Given the description of an element on the screen output the (x, y) to click on. 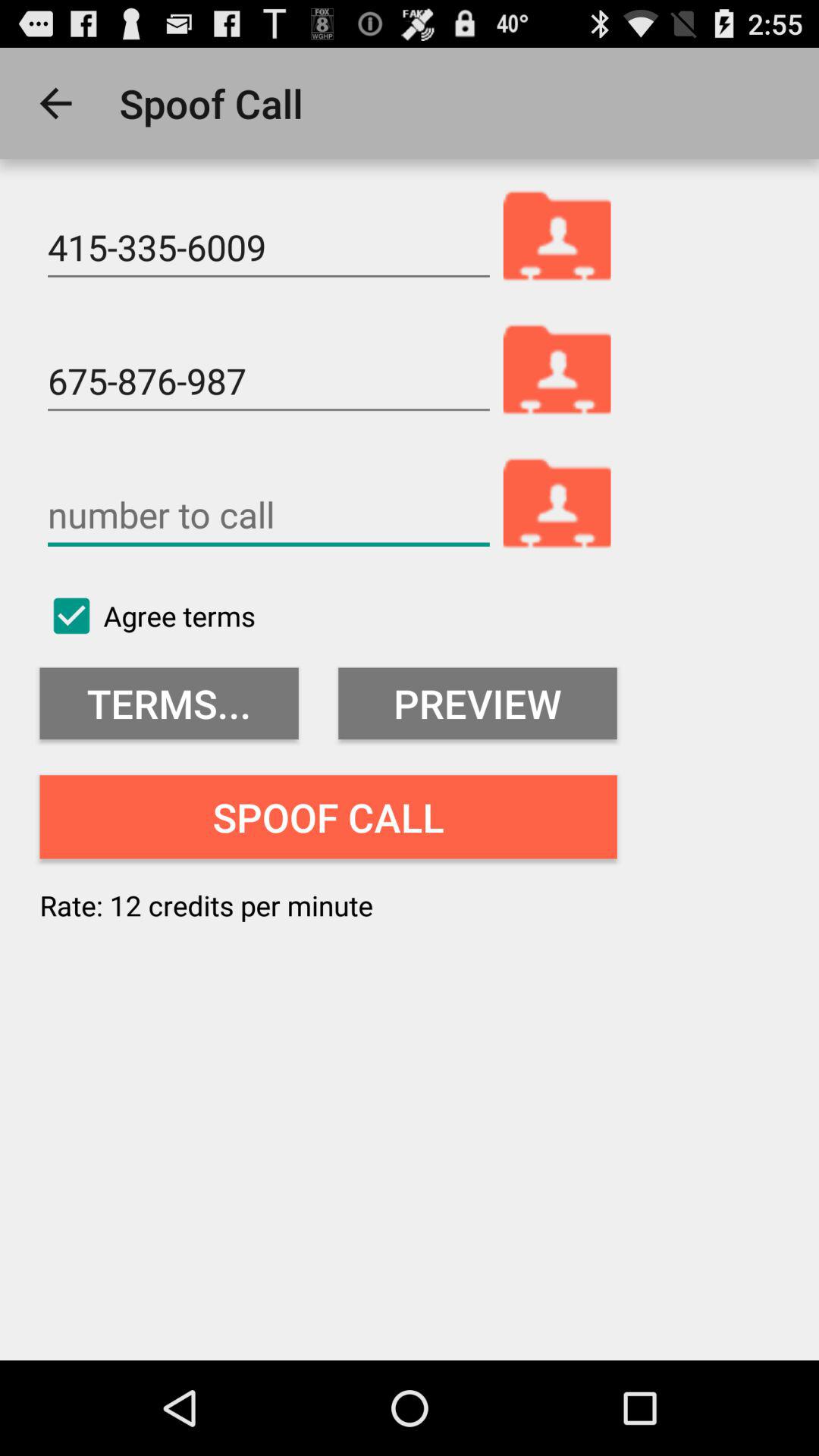
turn on item below the agree terms (168, 703)
